Given the description of an element on the screen output the (x, y) to click on. 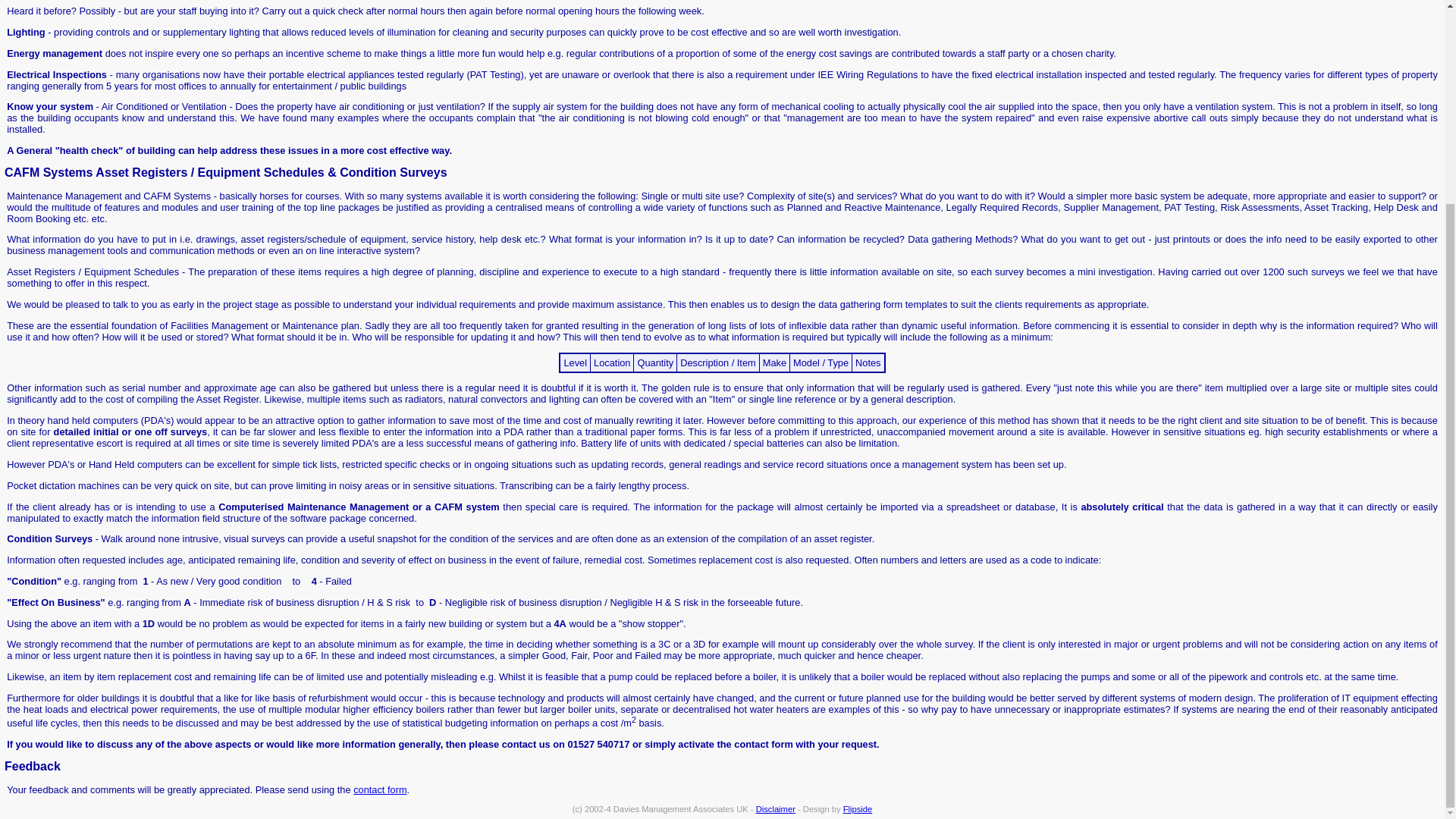
Flipside (857, 809)
contact form (379, 789)
Disclaimer (774, 809)
